Given the description of an element on the screen output the (x, y) to click on. 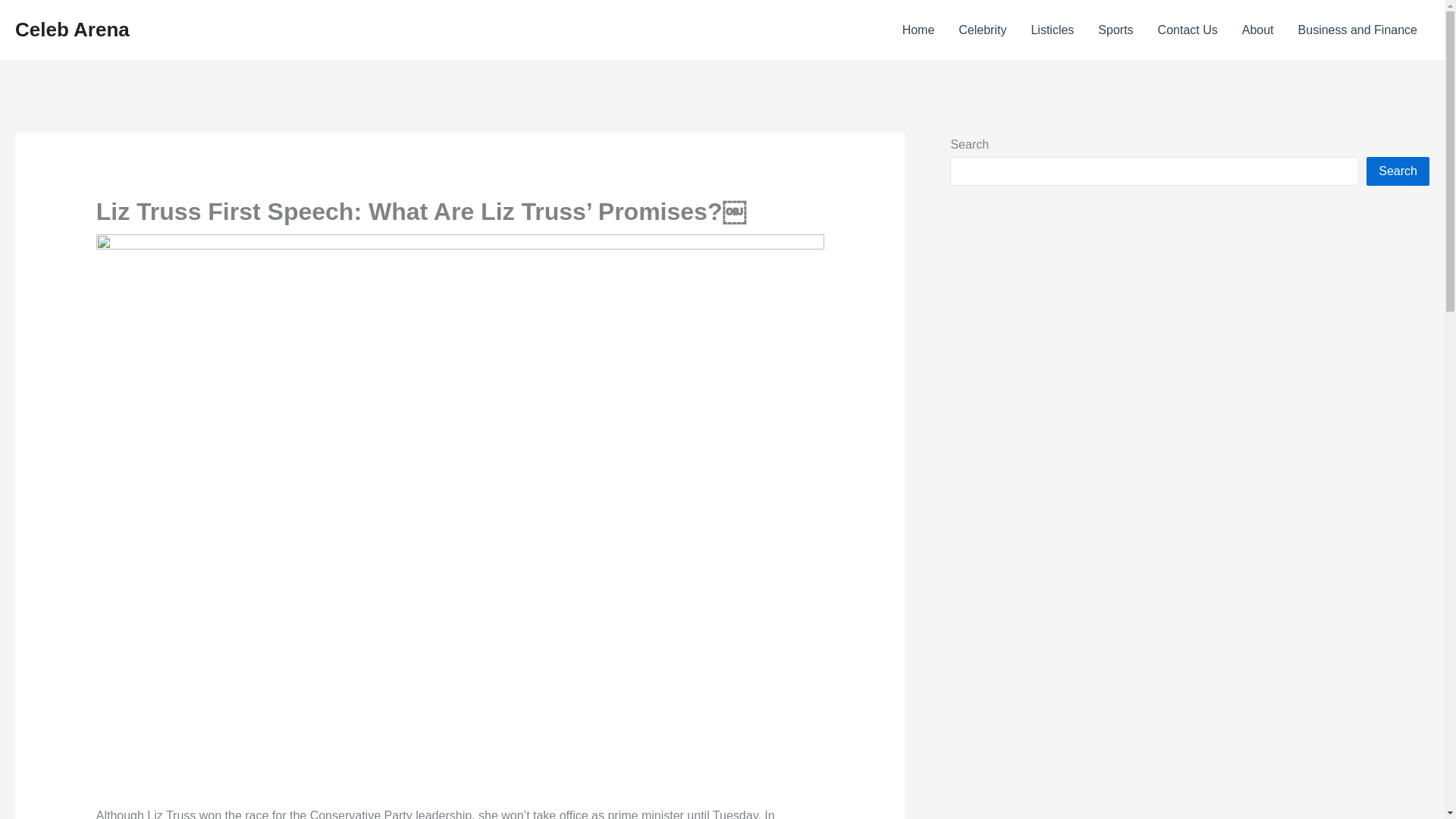
Celebrity (981, 30)
Sports (1115, 30)
Business and Finance (1357, 30)
Home (918, 30)
Celeb Arena (71, 29)
Contact Us (1187, 30)
About (1257, 30)
Listicles (1051, 30)
